Given the description of an element on the screen output the (x, y) to click on. 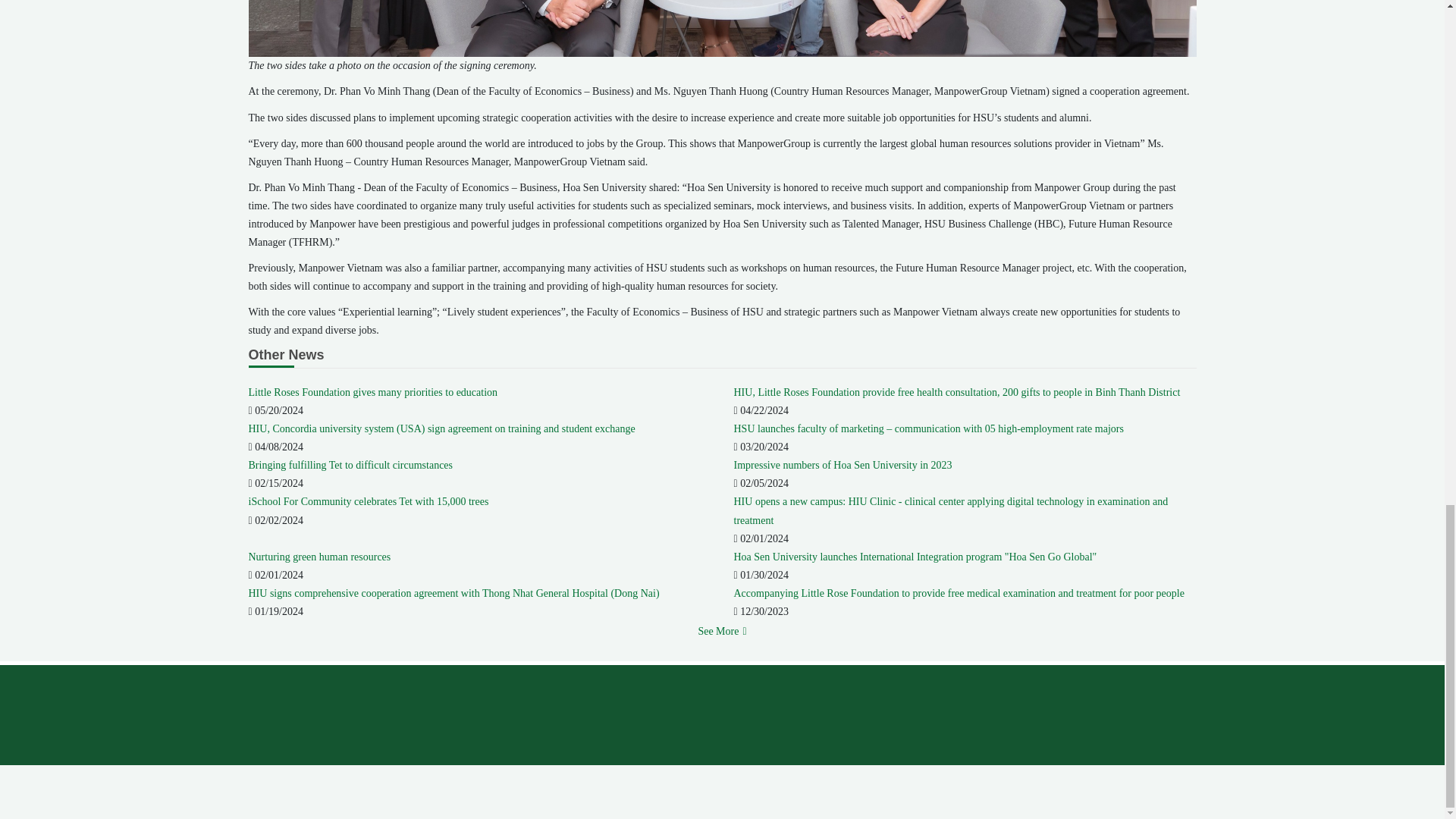
Little Roses Foundation gives many priorities to education (372, 392)
Load more items (721, 631)
See More (721, 631)
Send (1158, 701)
iSchool For Community celebrates Tet with 15,000 trees (368, 501)
Bringing fulfilling Tet to difficult circumstances (350, 464)
Nurturing green human resources (319, 556)
Impressive numbers of Hoa Sen University in 2023 (842, 464)
